Given the description of an element on the screen output the (x, y) to click on. 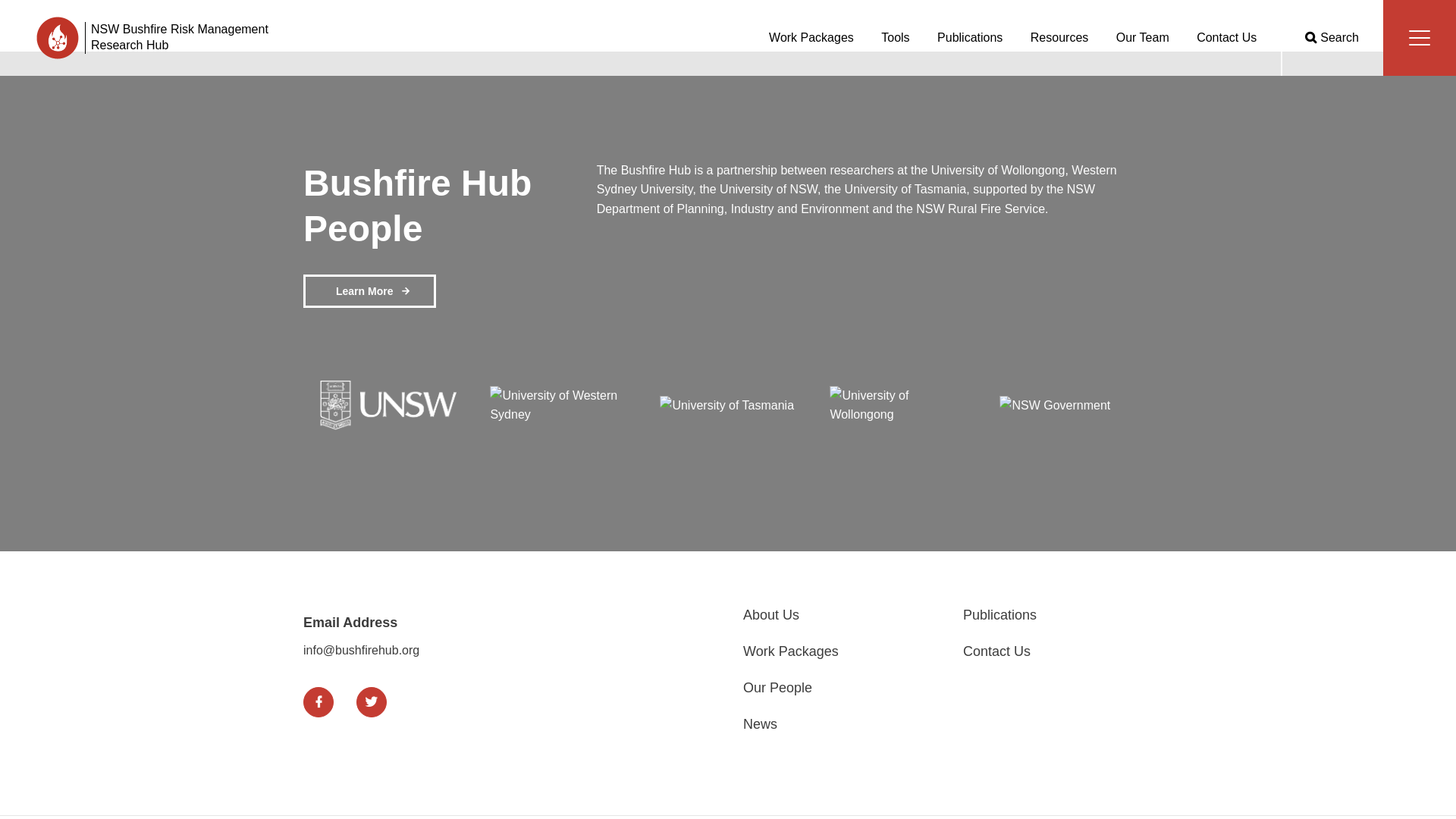
Learn More (368, 290)
